Given the description of an element on the screen output the (x, y) to click on. 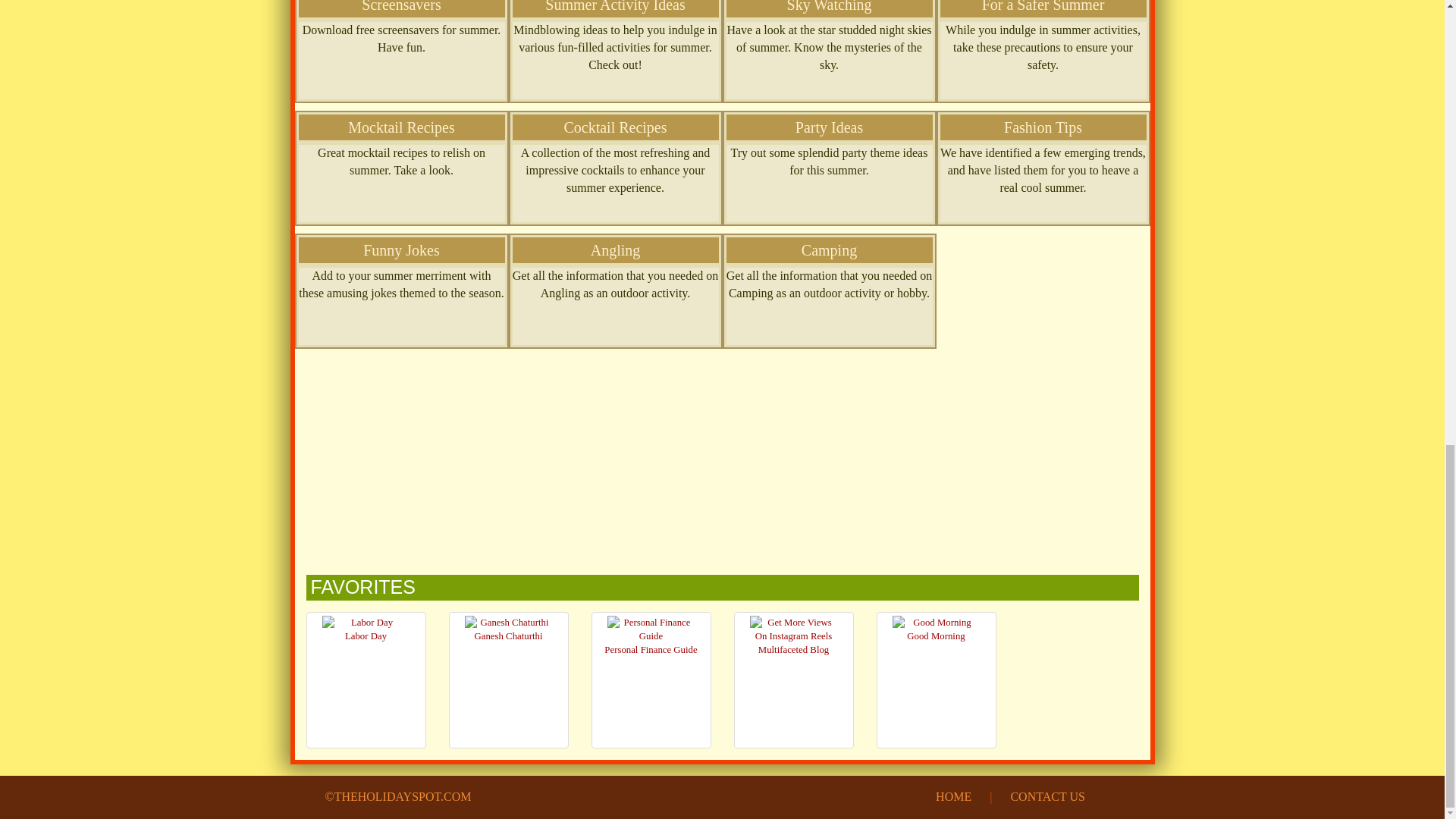
Labor Day (365, 622)
Personal Finance Guide (650, 629)
Multifaceted Lifestyle Blog (793, 629)
Ganesh Chaturthi (507, 622)
Good Morning (935, 622)
